Given the description of an element on the screen output the (x, y) to click on. 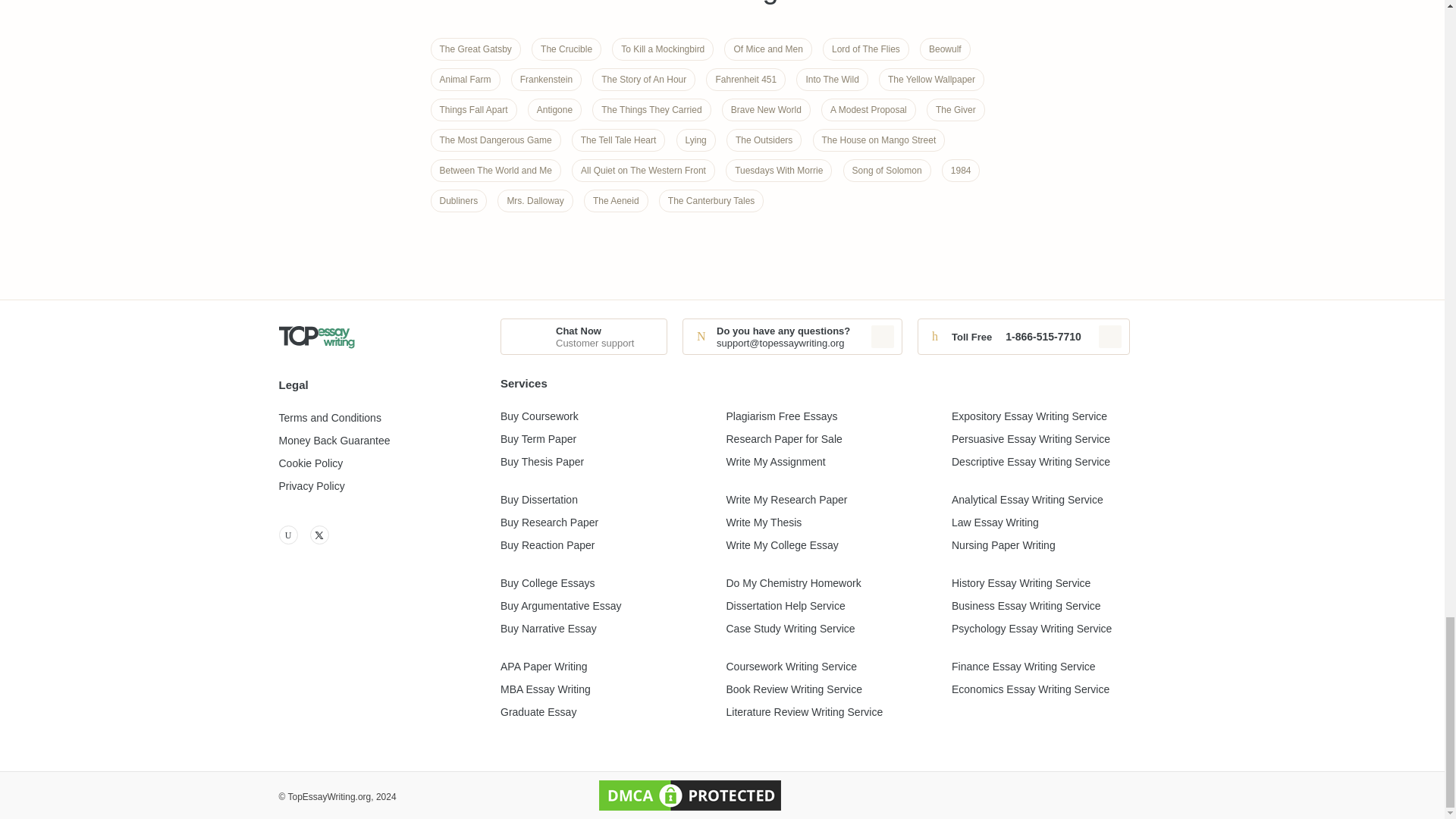
Copied to clipboard (1110, 336)
DMCA.com Protection Status (689, 795)
Copied to clipboard (881, 336)
